Given the description of an element on the screen output the (x, y) to click on. 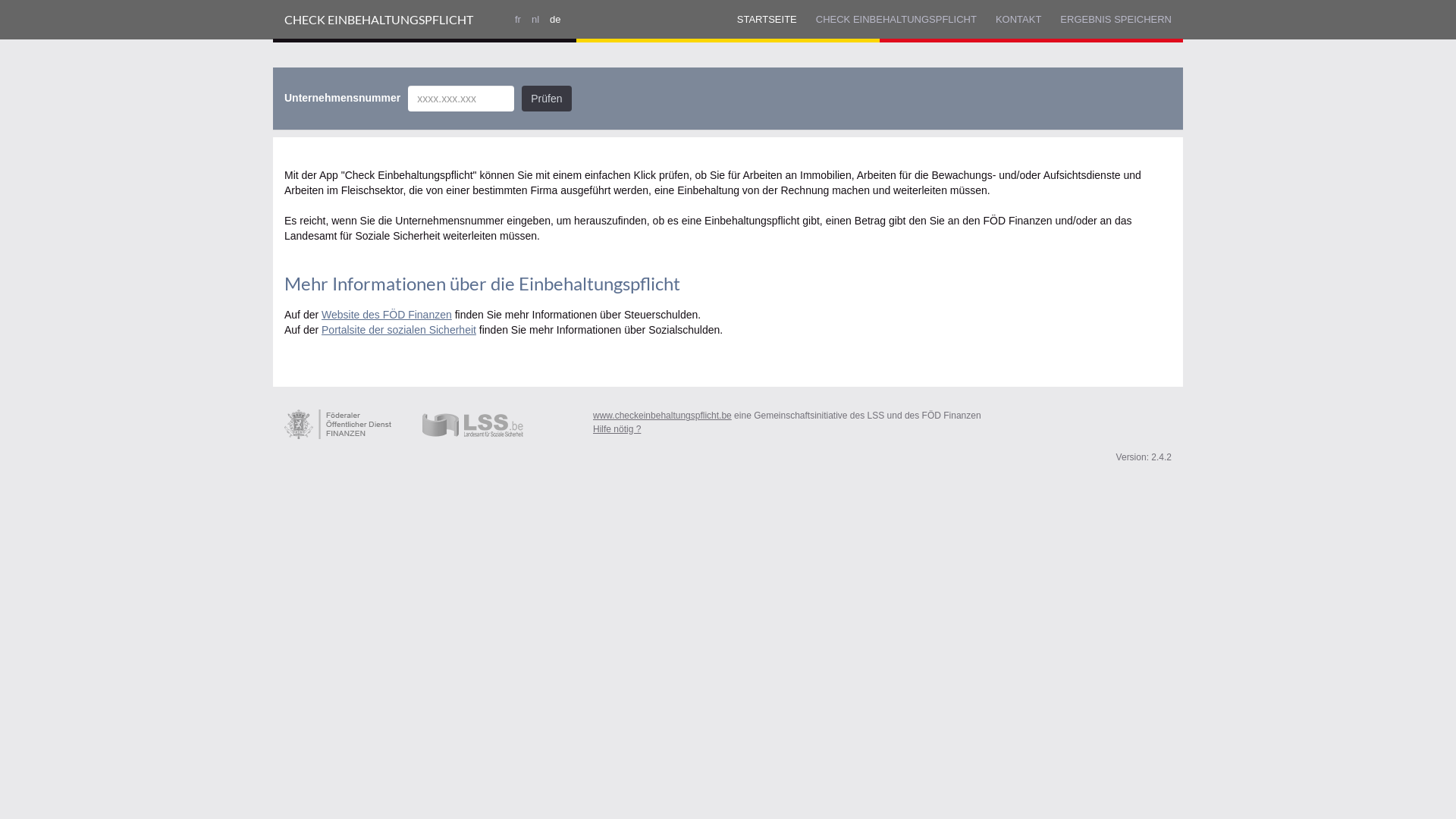
de Element type: text (554, 19)
nl Element type: text (535, 19)
fr Element type: text (517, 19)
www.checkeinbehaltungspflicht.be Element type: text (662, 415)
Portalsite der sozialen Sicherheit Element type: text (398, 329)
ERGEBNIS SPEICHERN Element type: text (1115, 19)
STARTSEITE Element type: text (767, 19)
CHECK EINBEHALTUNGSPFLICHT Element type: text (895, 19)
CHECK EINBEHALTUNGSPFLICHT Element type: text (378, 19)
KONTAKT Element type: text (1018, 19)
